Given the description of an element on the screen output the (x, y) to click on. 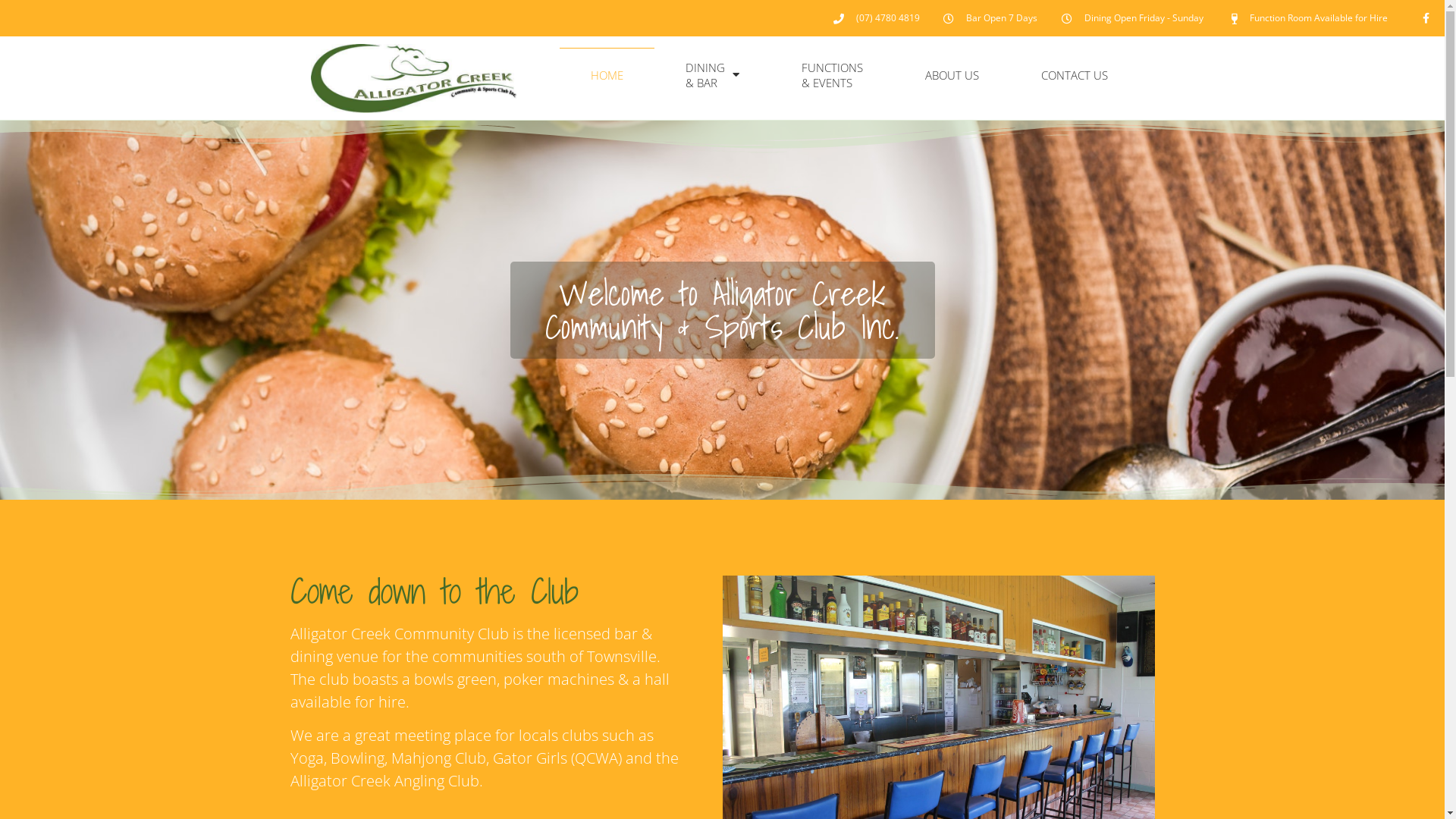
HOME Element type: text (606, 74)
ABOUT US Element type: text (952, 74)
CONTACT US Element type: text (1074, 74)
DINING
& BAR Element type: text (712, 74)
FUNCTIONS
& EVENTS Element type: text (832, 74)
